Given the description of an element on the screen output the (x, y) to click on. 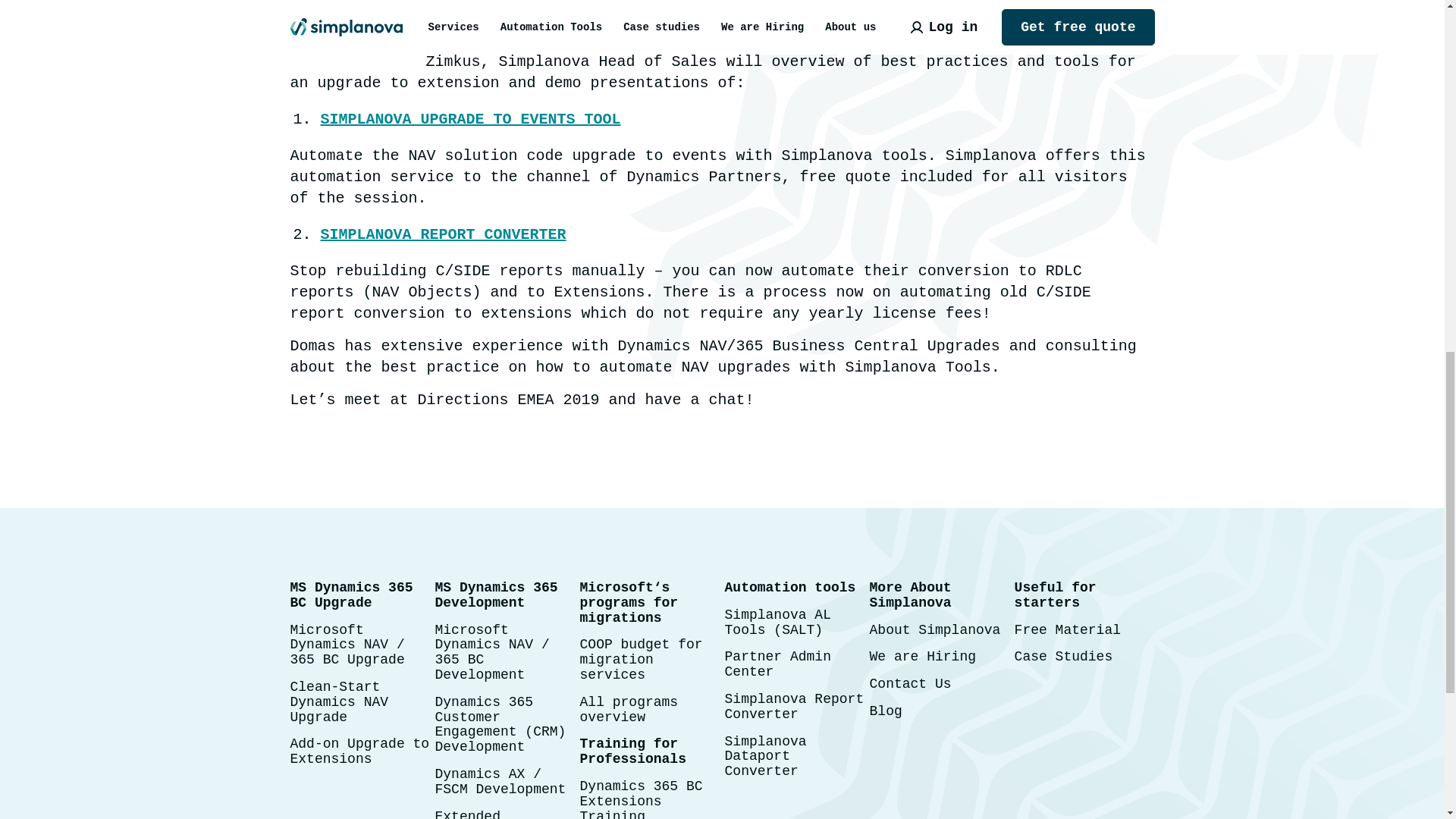
SIMPLANOVA UPGRADE TO EVENTS TOOL (470, 118)
Clean-Start Dynamics NAV Upgrade (338, 701)
MS Dynamics 365 BC Upgrade (350, 594)
SIMPLANOVA REPORT CONVERTER (443, 234)
Add-on Upgrade to Extensions (359, 751)
MS Dynamics 365 Development (496, 594)
